Given the description of an element on the screen output the (x, y) to click on. 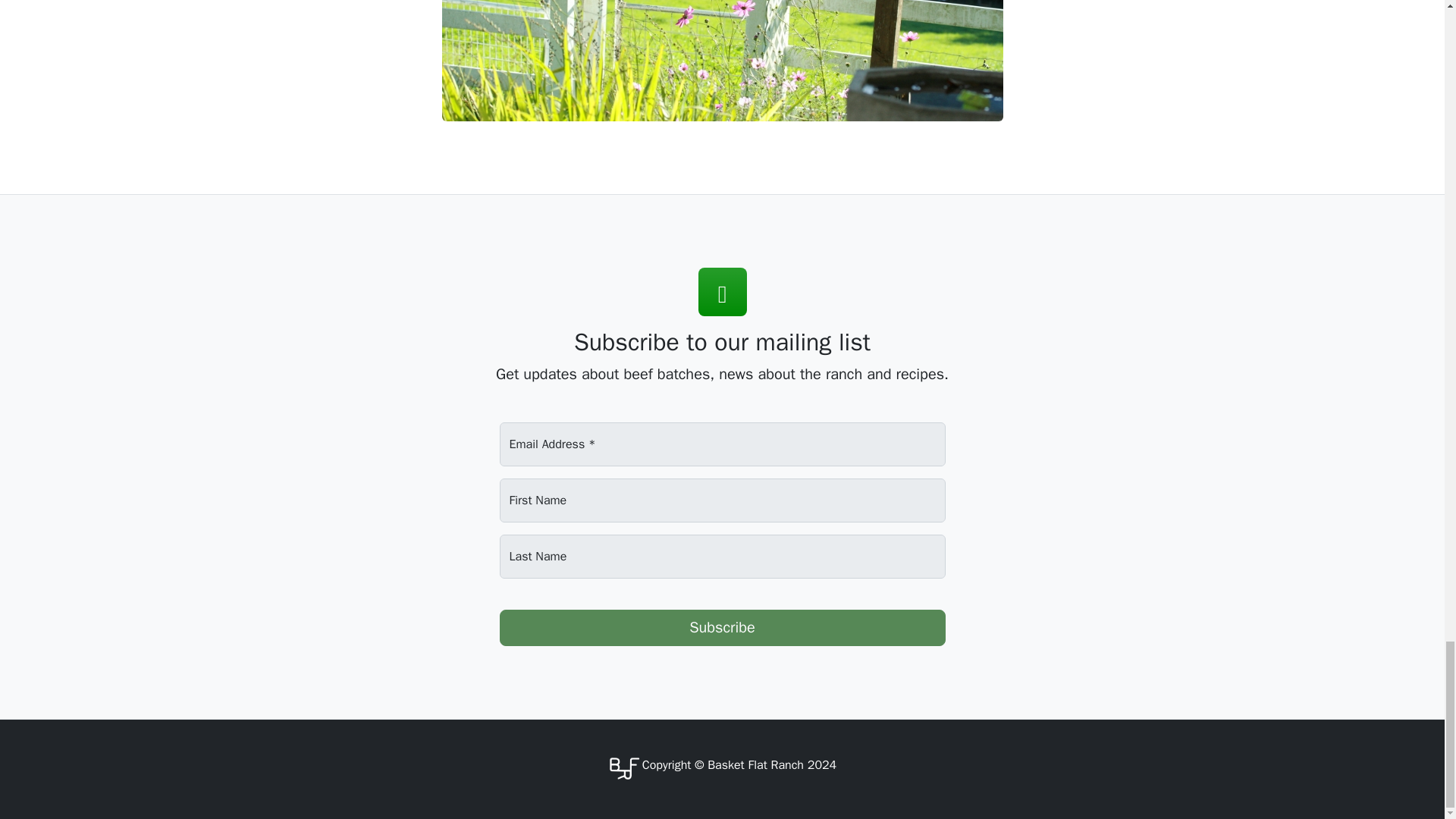
Subscribe (721, 627)
Subscribe (721, 627)
